Given the description of an element on the screen output the (x, y) to click on. 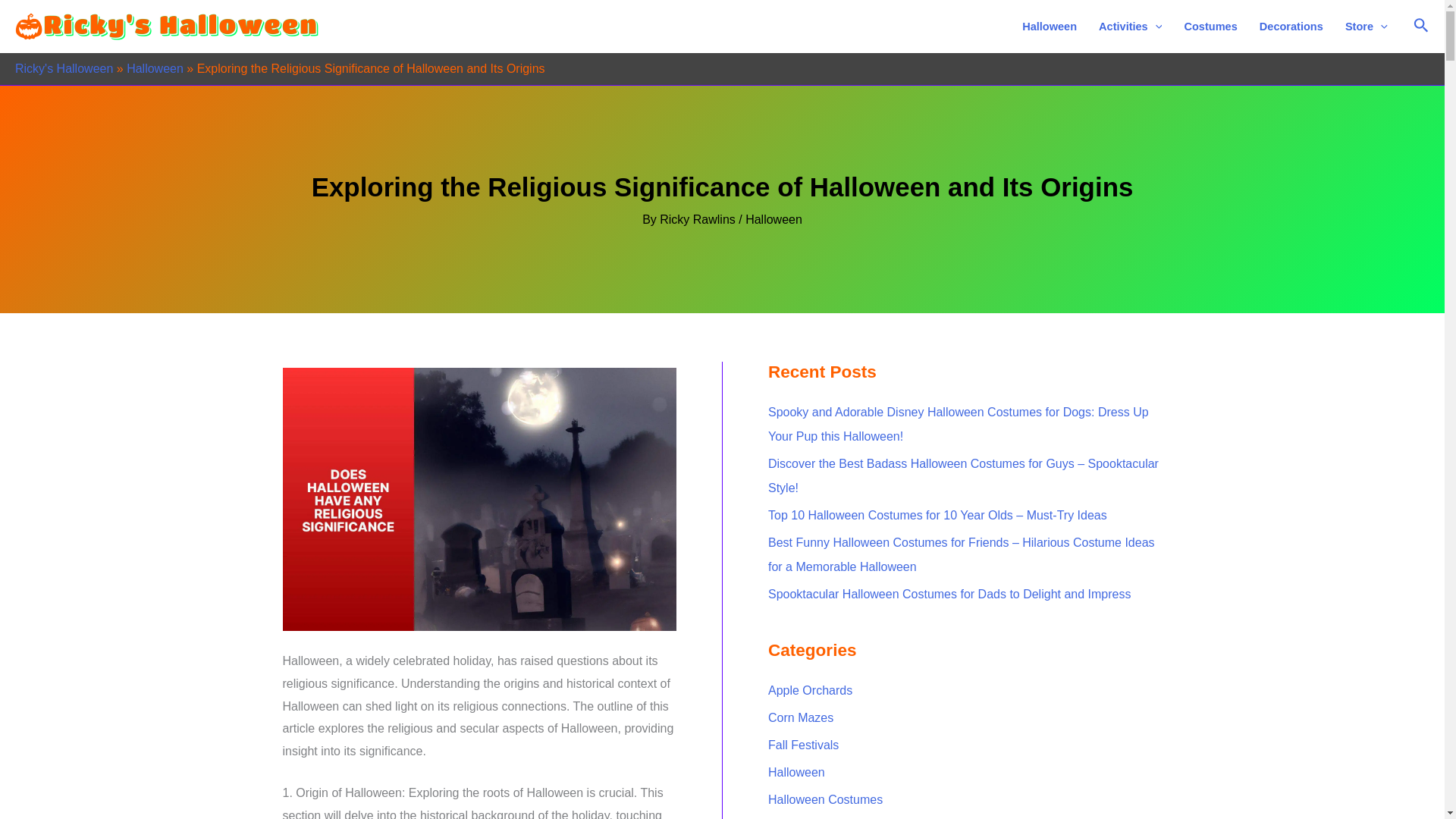
View all posts by Ricky Rawlins (698, 219)
Costumes (1210, 26)
Halloween (154, 68)
Decorations (1290, 26)
Search (1421, 26)
Activities (1130, 26)
Halloween (1049, 26)
Ricky's Halloween (63, 68)
Store (1365, 26)
